Given the description of an element on the screen output the (x, y) to click on. 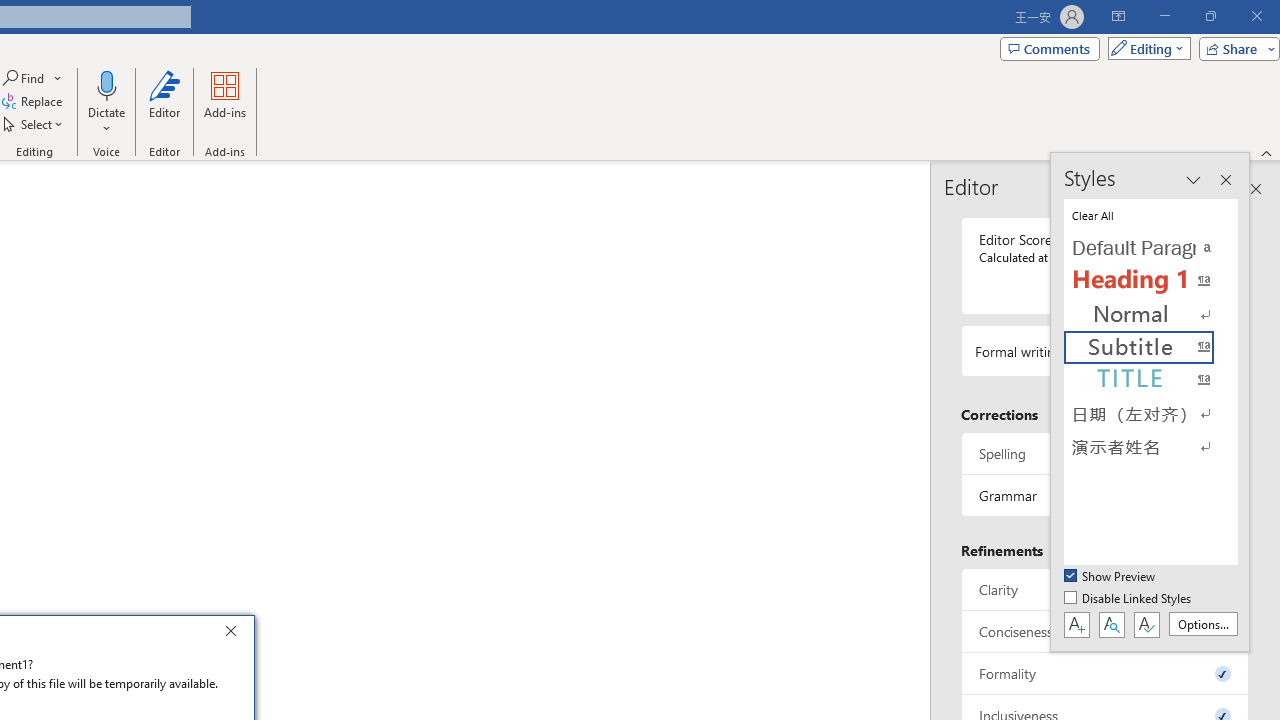
Spelling, 0 issues. Press space or enter to review items. (1105, 452)
Options... (1202, 623)
Heading 1 (1150, 281)
Default Paragraph Font (1150, 247)
